Given the description of an element on the screen output the (x, y) to click on. 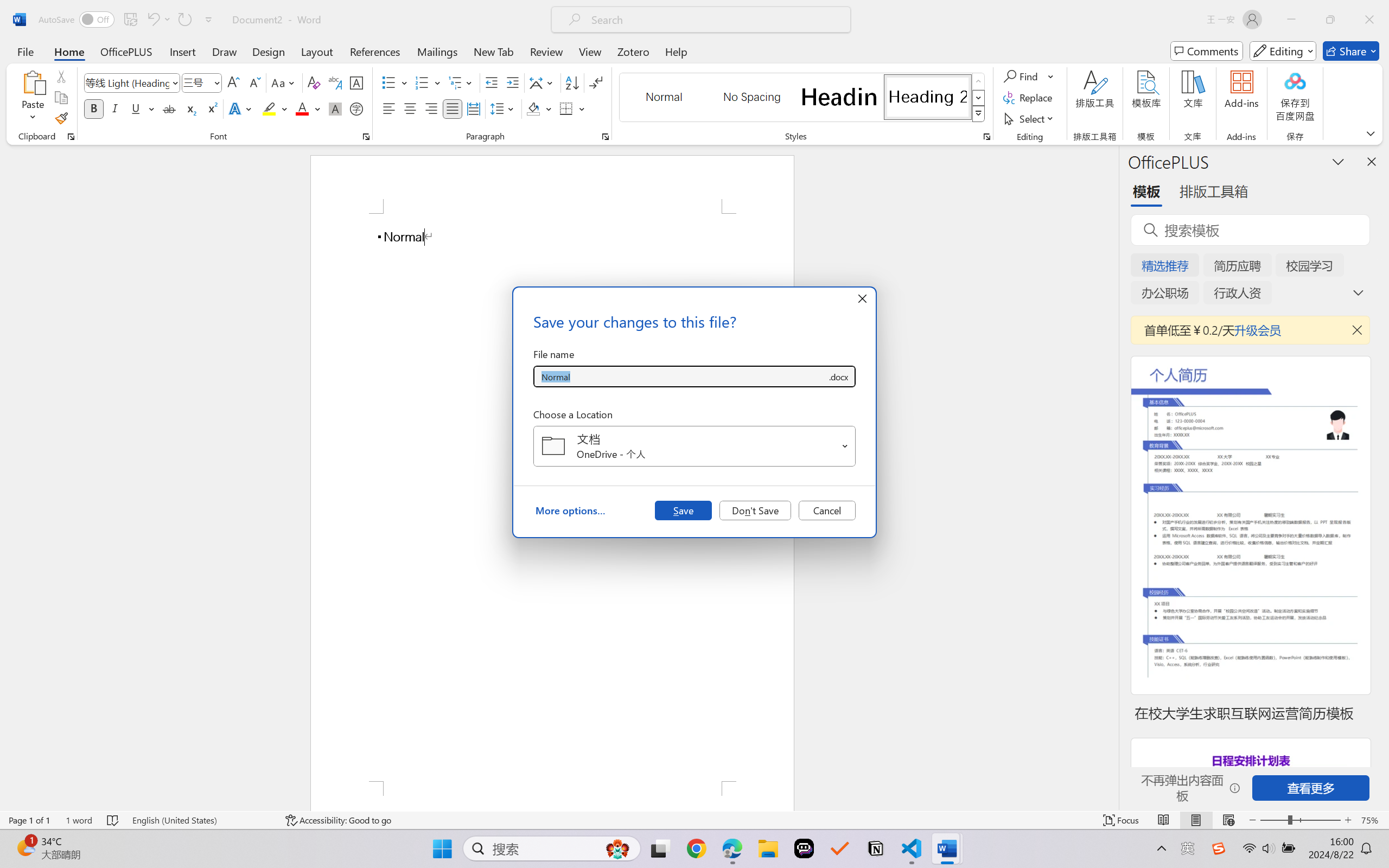
Styles (978, 113)
Mode (1283, 50)
Styles... (986, 136)
Print Layout (1196, 819)
Underline (142, 108)
Strikethrough (169, 108)
Quick Access Toolbar (127, 19)
Zoom (1300, 819)
